Given the description of an element on the screen output the (x, y) to click on. 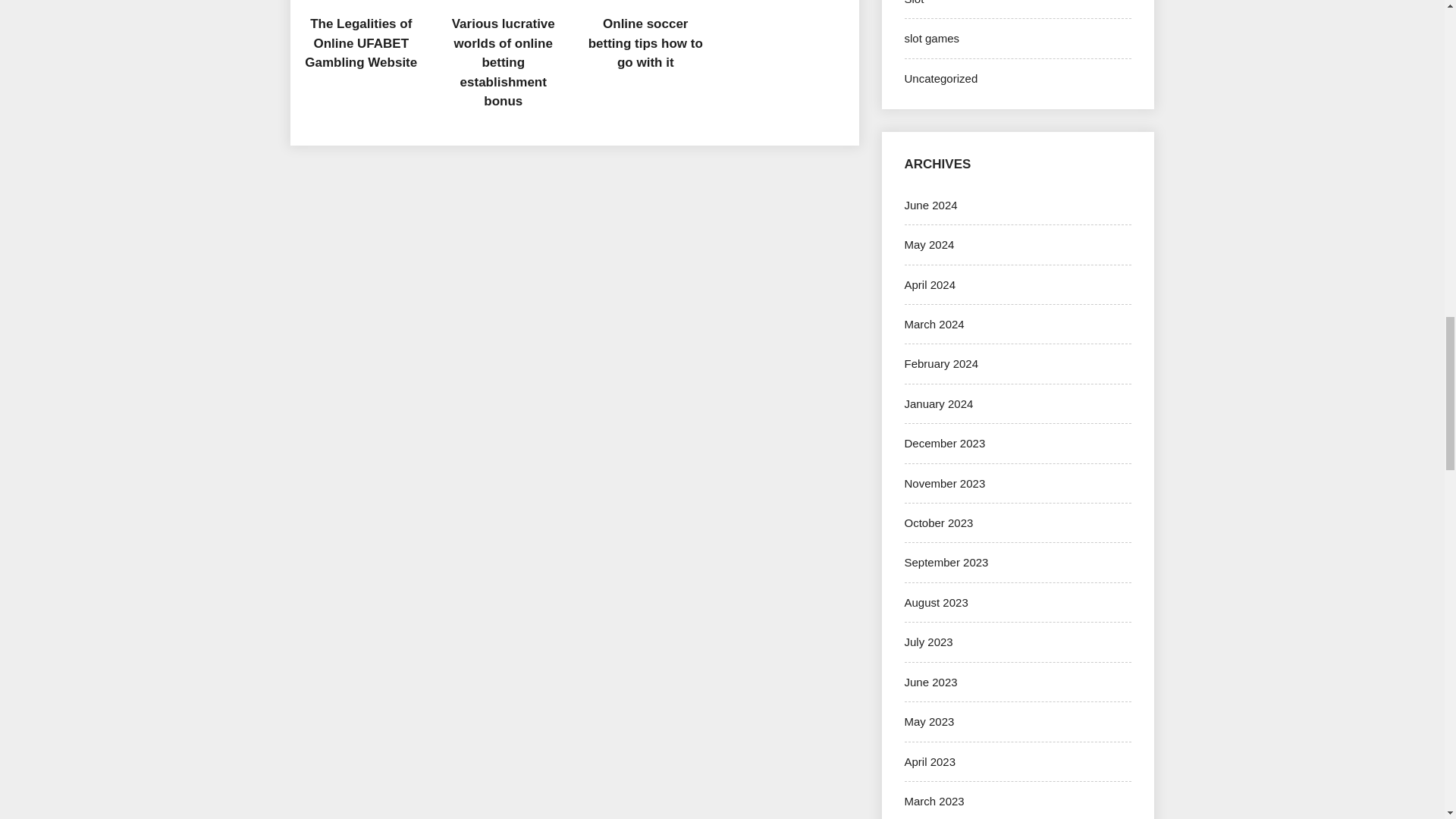
The Legalities of Online UFABET Gambling Website (360, 42)
Online soccer betting tips how to go with it (645, 42)
Slot (913, 2)
